Given the description of an element on the screen output the (x, y) to click on. 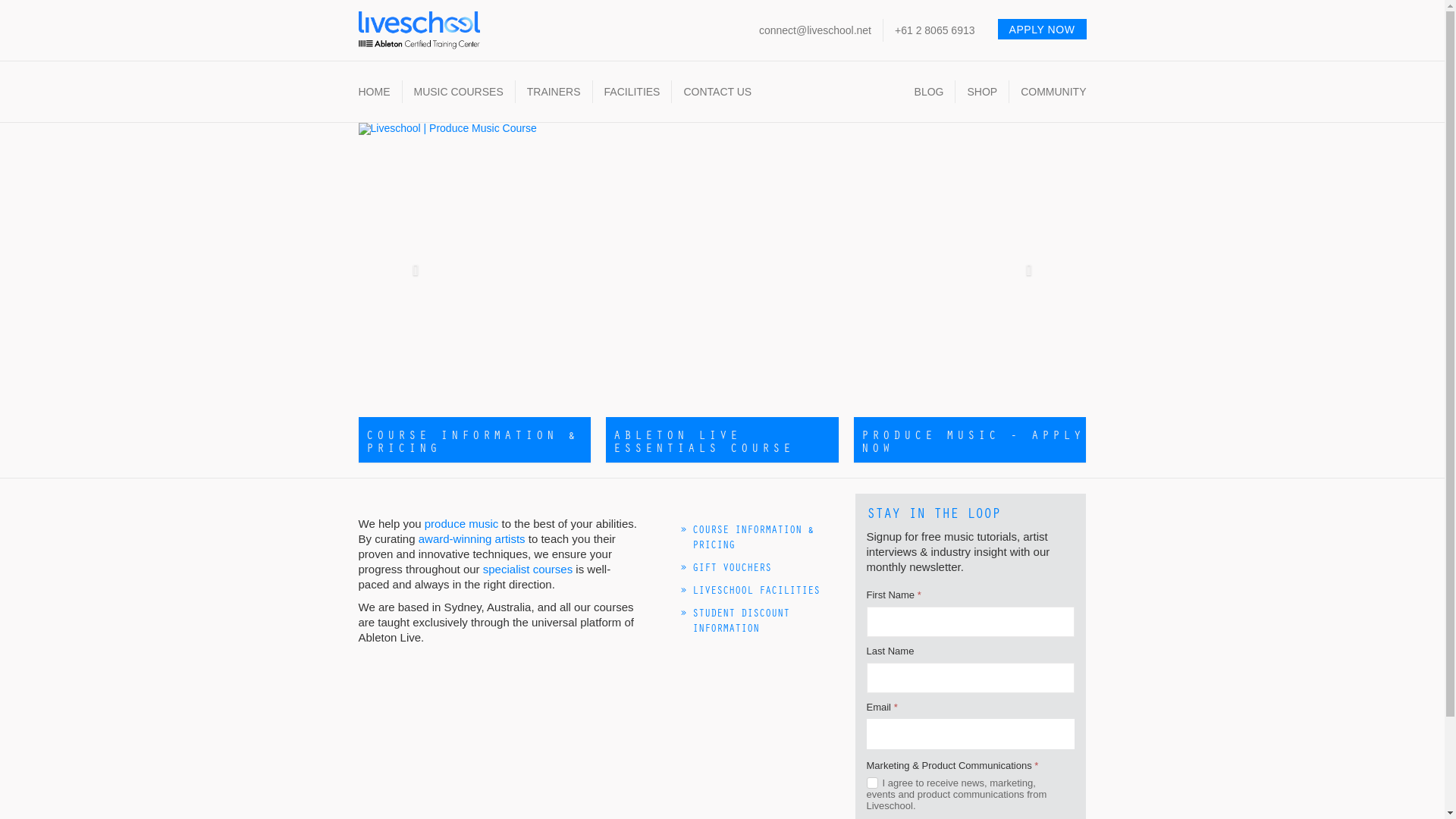
APPLY NOW Element type: text (1041, 28)
GIFT VOUCHERS Element type: text (730, 566)
COMMUNITY Element type: text (1052, 91)
specialist courses Element type: text (527, 568)
produce music Element type: text (461, 523)
ABLETON LIVE ESSENTIALS COURSE Element type: text (721, 439)
SHOP Element type: text (981, 91)
CONTACT US Element type: text (717, 91)
award-winning artists Element type: text (471, 538)
+61 2 8065 6913 Element type: text (934, 30)
TRAINERS Element type: text (553, 91)
PRODUCE MUSIC - APPLY NOW Element type: text (969, 439)
BLOG Element type: text (929, 91)
MUSIC COURSES Element type: text (458, 91)
COURSE INFORMATION & PRICING Element type: text (751, 536)
STUDENT DISCOUNT INFORMATION Element type: text (739, 619)
FACILITIES Element type: text (632, 91)
LIVESCHOOL FACILITIES Element type: text (755, 589)
HOME Element type: text (373, 91)
COURSE INFORMATION & PRICING Element type: text (473, 439)
connect@liveschool.net Element type: text (815, 30)
